Given the description of an element on the screen output the (x, y) to click on. 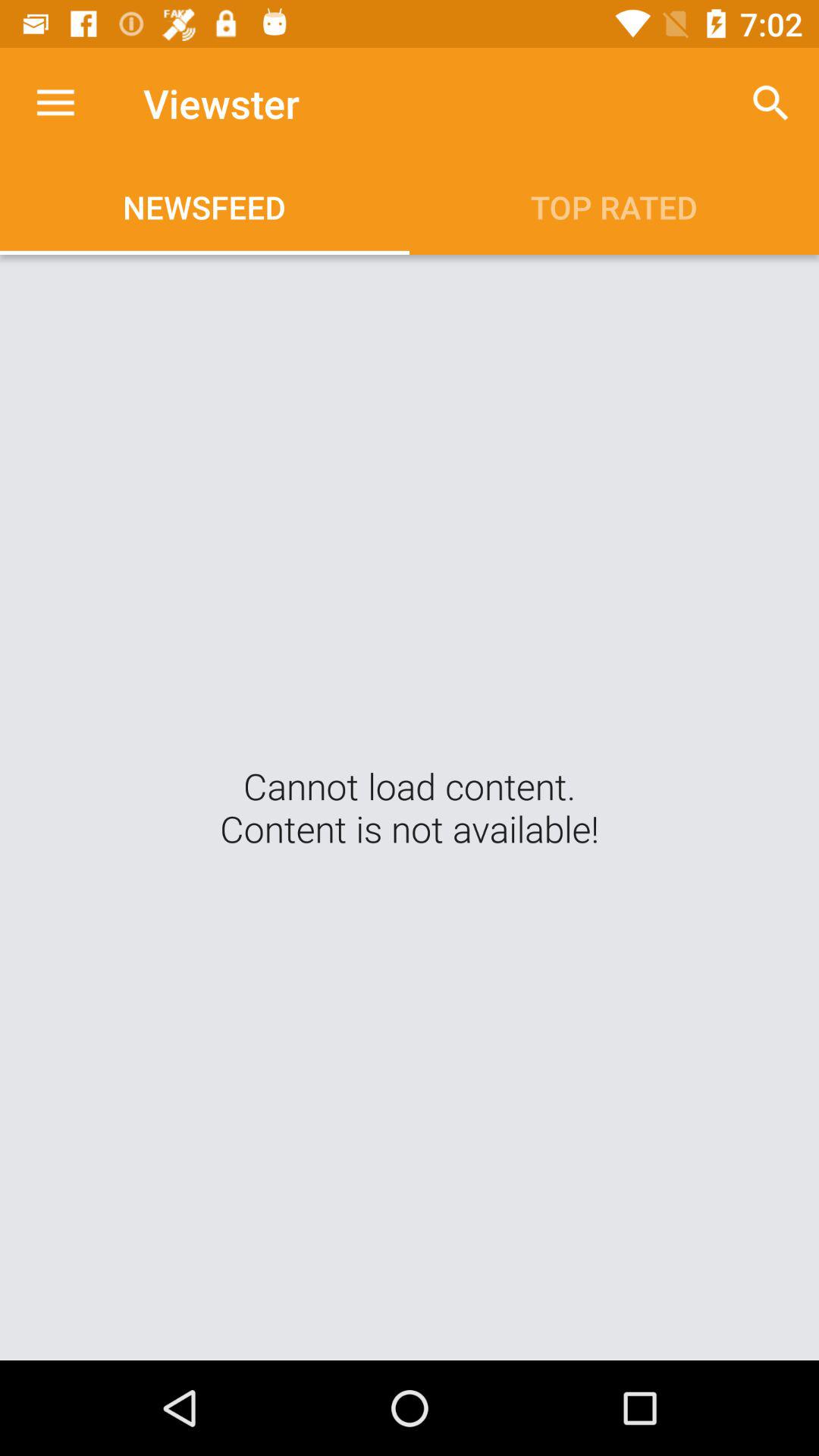
open the app to the left of the viewster app (55, 103)
